Given the description of an element on the screen output the (x, y) to click on. 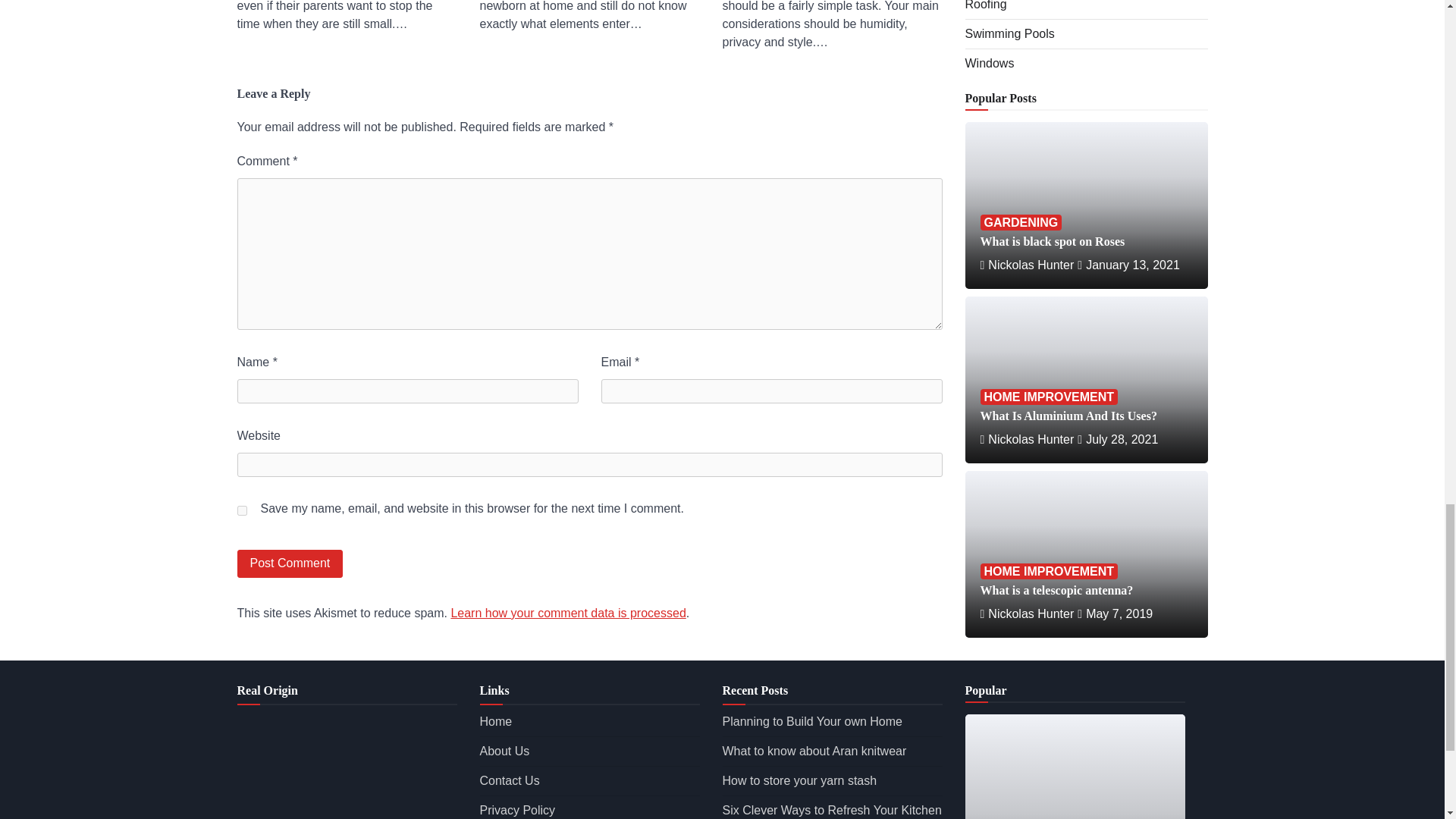
Learn how your comment data is processed (567, 612)
Post Comment (288, 563)
Post Comment (288, 563)
yes (240, 510)
